Given the description of an element on the screen output the (x, y) to click on. 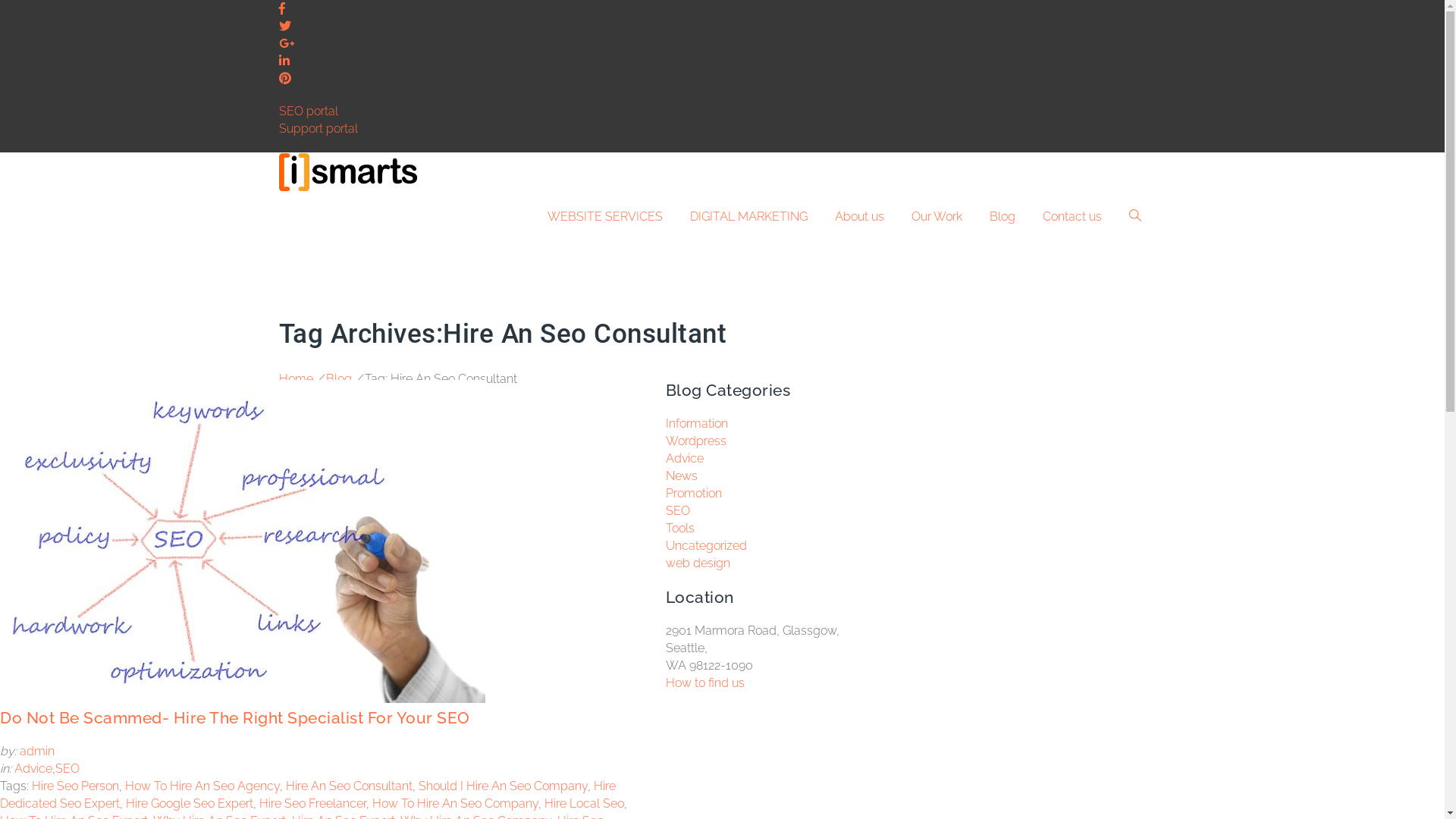
Advice Element type: text (684, 458)
News Element type: text (681, 475)
Hire Seo Person Element type: text (75, 785)
SEO portal Element type: text (308, 110)
Blog Element type: text (338, 378)
How To Hire An Seo Company Element type: text (455, 803)
Support portal Element type: text (318, 128)
Blog Element type: text (1001, 216)
Tools Element type: text (679, 527)
Hire Local Seo Element type: text (584, 803)
Hire An Seo Consultant Element type: text (348, 785)
SEO Element type: text (677, 510)
How to find us Element type: text (704, 682)
Hire Google Seo Expert Element type: text (189, 803)
web design Element type: text (697, 562)
Information Element type: text (696, 423)
How To Hire An Seo Agency Element type: text (202, 785)
About us Element type: text (858, 216)
Hire Seo Freelancer Element type: text (312, 803)
Home Element type: text (296, 378)
Wordpress Element type: text (695, 440)
Hire Dedicated Seo Expert Element type: text (307, 794)
Uncategorized Element type: text (705, 545)
Advice Element type: text (33, 768)
WEBSITE SERVICES Element type: text (604, 216)
Our Work Element type: text (936, 216)
DIGITAL MARKETING Element type: text (748, 216)
Should I Hire An Seo Company Element type: text (502, 785)
Contact us Element type: text (1071, 216)
Do Not Be Scammed- Hire The Right Specialist For Your SEO Element type: text (235, 717)
admin Element type: text (36, 750)
SEO Element type: text (67, 768)
Promotion Element type: text (693, 493)
